Given the description of an element on the screen output the (x, y) to click on. 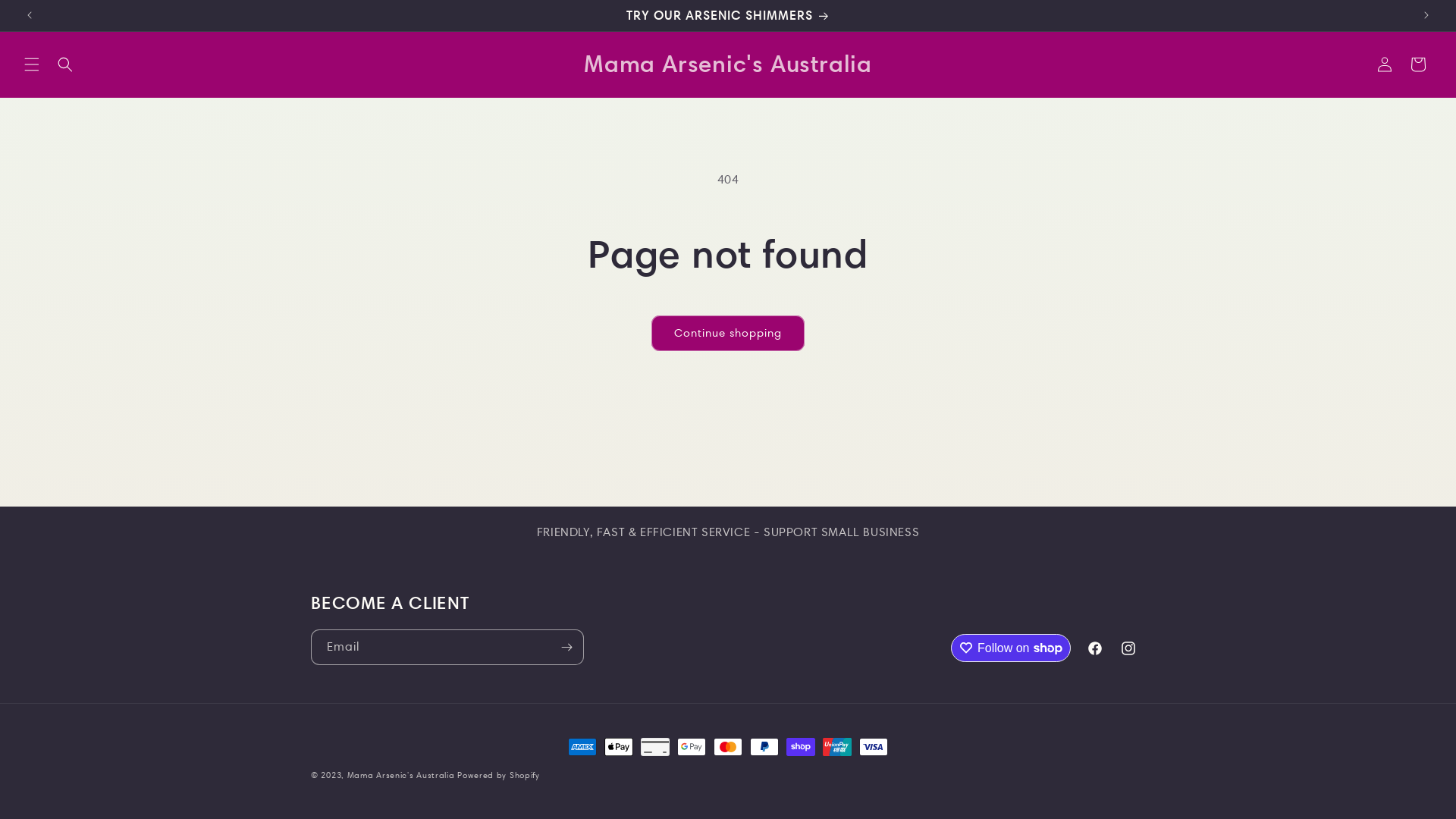
Log in Element type: text (1384, 64)
Mama Arsenic's Australia Element type: text (728, 64)
Cart Element type: text (1417, 64)
Continue shopping Element type: text (727, 333)
Facebook Element type: text (1094, 648)
Powered by Shopify Element type: text (498, 774)
TRY OUR ARSENIC SHIMMERS Element type: text (727, 15)
Instagram Element type: text (1128, 648)
Mama Arsenic's Australia Element type: text (401, 774)
